Given the description of an element on the screen output the (x, y) to click on. 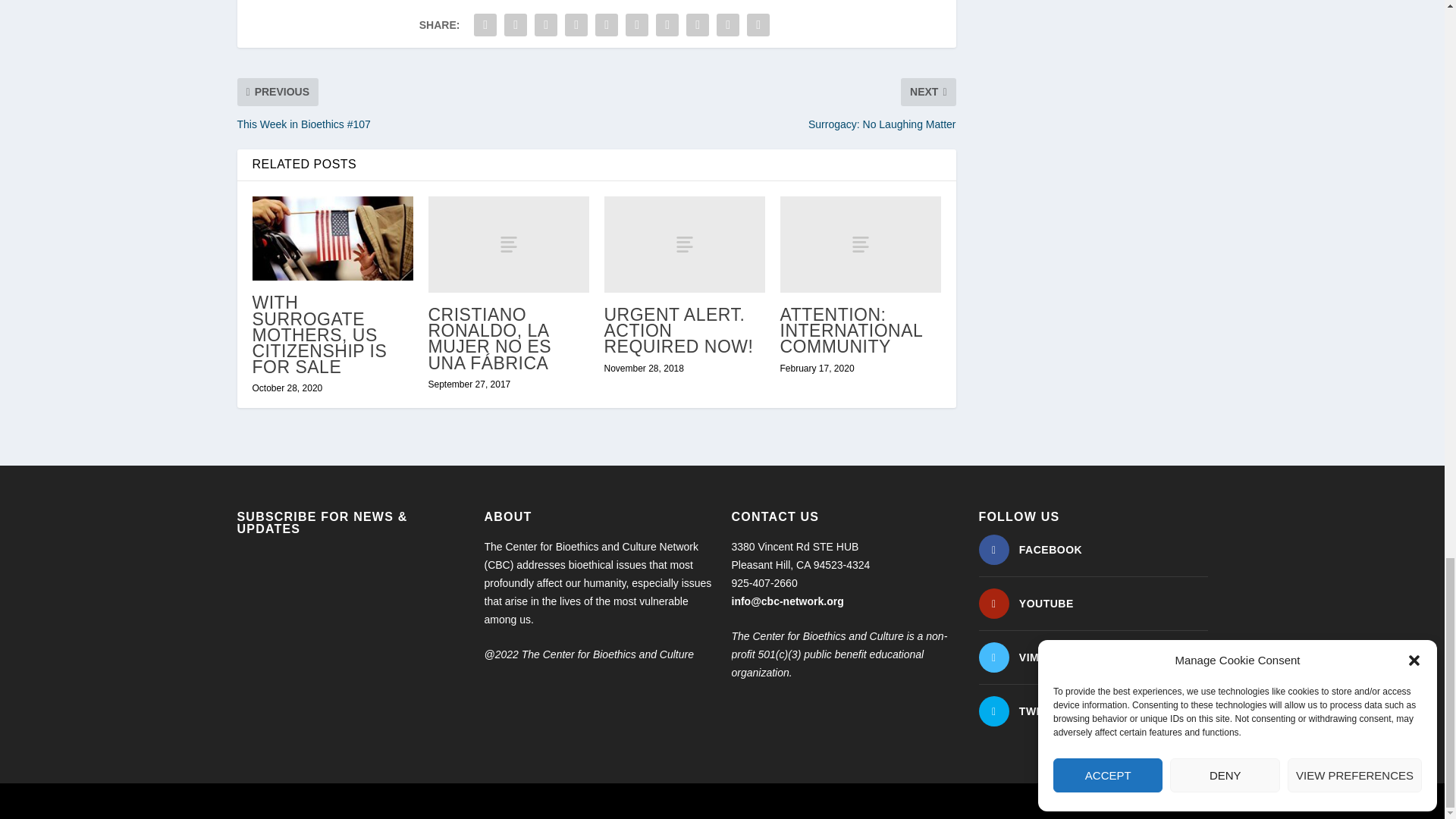
Urgent Alert. Action Required Now! (684, 244)
With Surrogate Mothers, US Citizenship Is for Sale (331, 238)
